Given the description of an element on the screen output the (x, y) to click on. 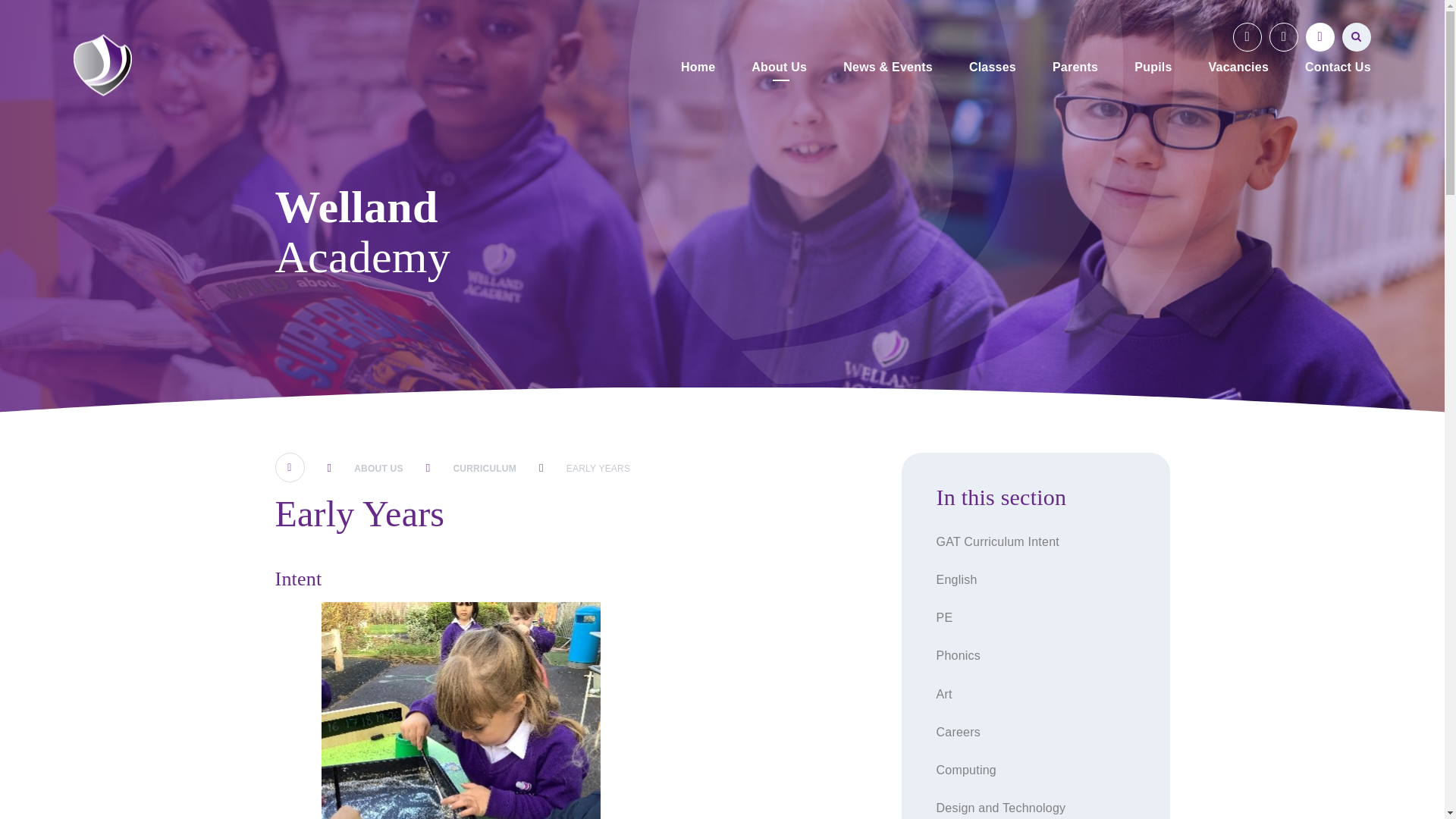
Search... (1356, 36)
About Us (778, 67)
Welland Academy (103, 64)
Twitter (1247, 36)
Home (697, 67)
search... (1356, 36)
Search... (1356, 36)
